Given the description of an element on the screen output the (x, y) to click on. 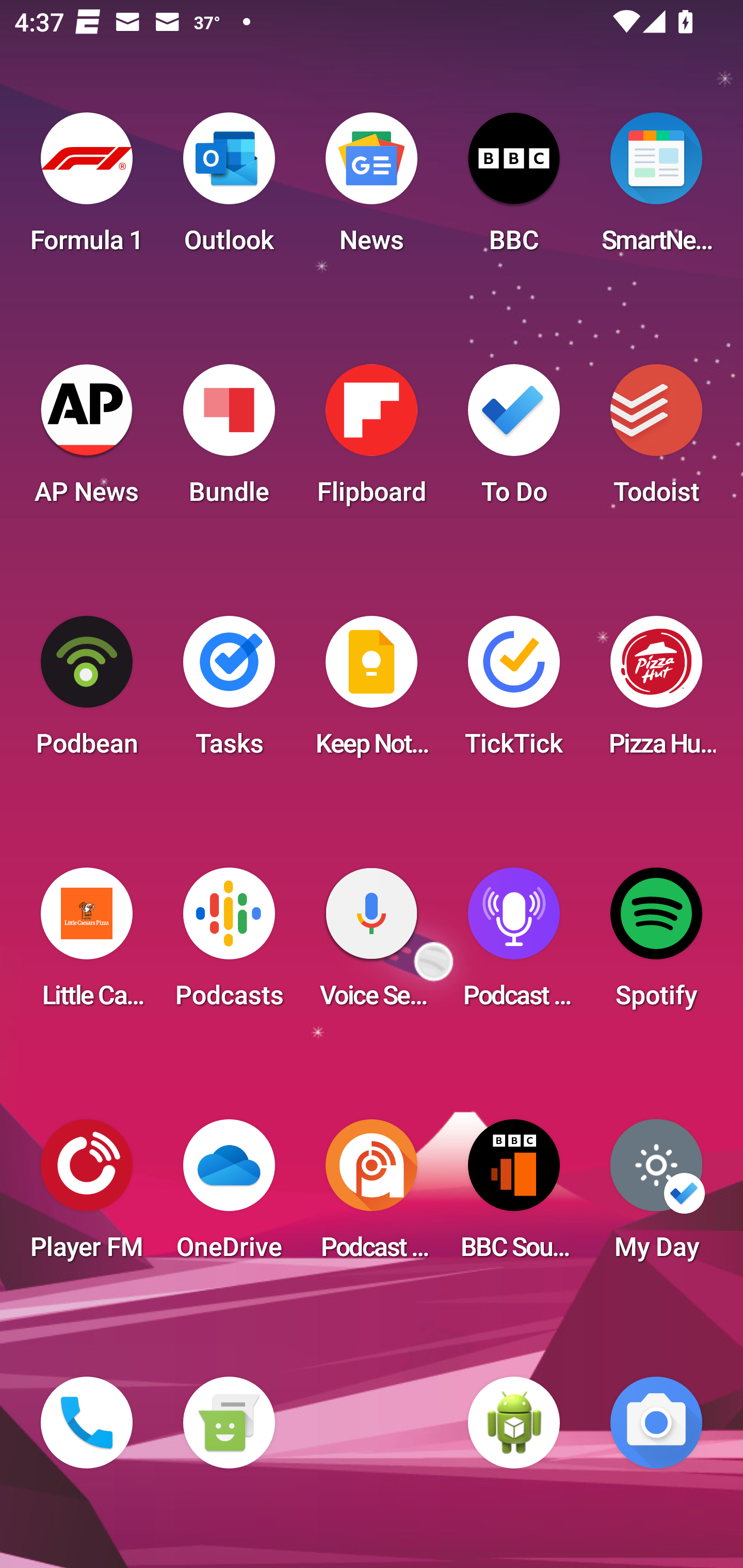
Formula 1 (86, 188)
Outlook (228, 188)
News (371, 188)
BBC (513, 188)
SmartNews (656, 188)
AP News (86, 440)
Bundle (228, 440)
Flipboard (371, 440)
To Do (513, 440)
Todoist (656, 440)
Podbean (86, 692)
Tasks (228, 692)
Keep Notes (371, 692)
TickTick (513, 692)
Pizza Hut HK & Macau (656, 692)
Little Caesars Pizza (86, 943)
Podcasts (228, 943)
Voice Search (371, 943)
Podcast Player (513, 943)
Spotify (656, 943)
Player FM (86, 1195)
OneDrive (228, 1195)
Podcast Addict (371, 1195)
BBC Sounds (513, 1195)
My Day (656, 1195)
Phone (86, 1422)
Messaging (228, 1422)
WebView Browser Tester (513, 1422)
Camera (656, 1422)
